Given the description of an element on the screen output the (x, y) to click on. 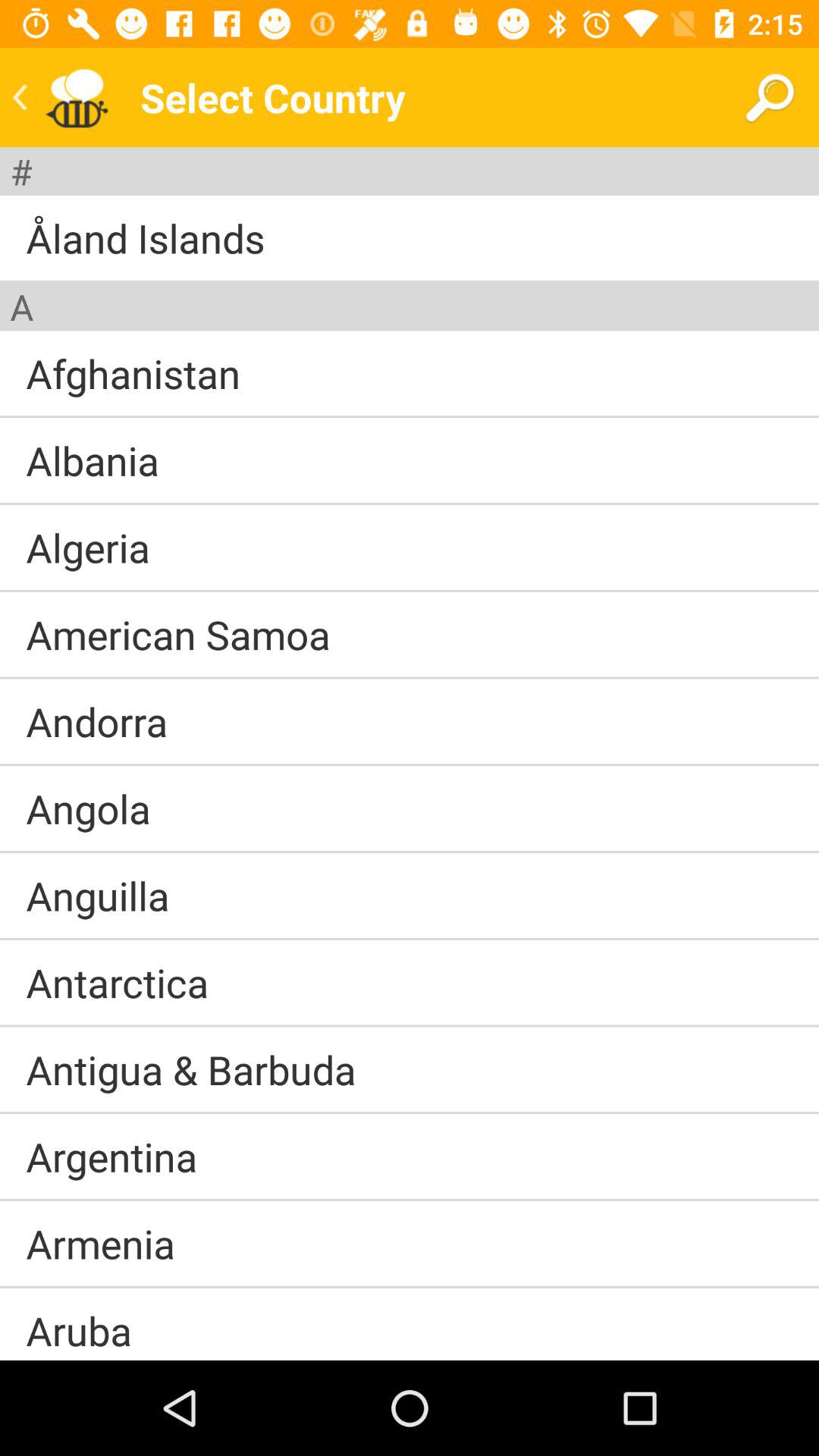
turn on afghanistan (133, 373)
